Given the description of an element on the screen output the (x, y) to click on. 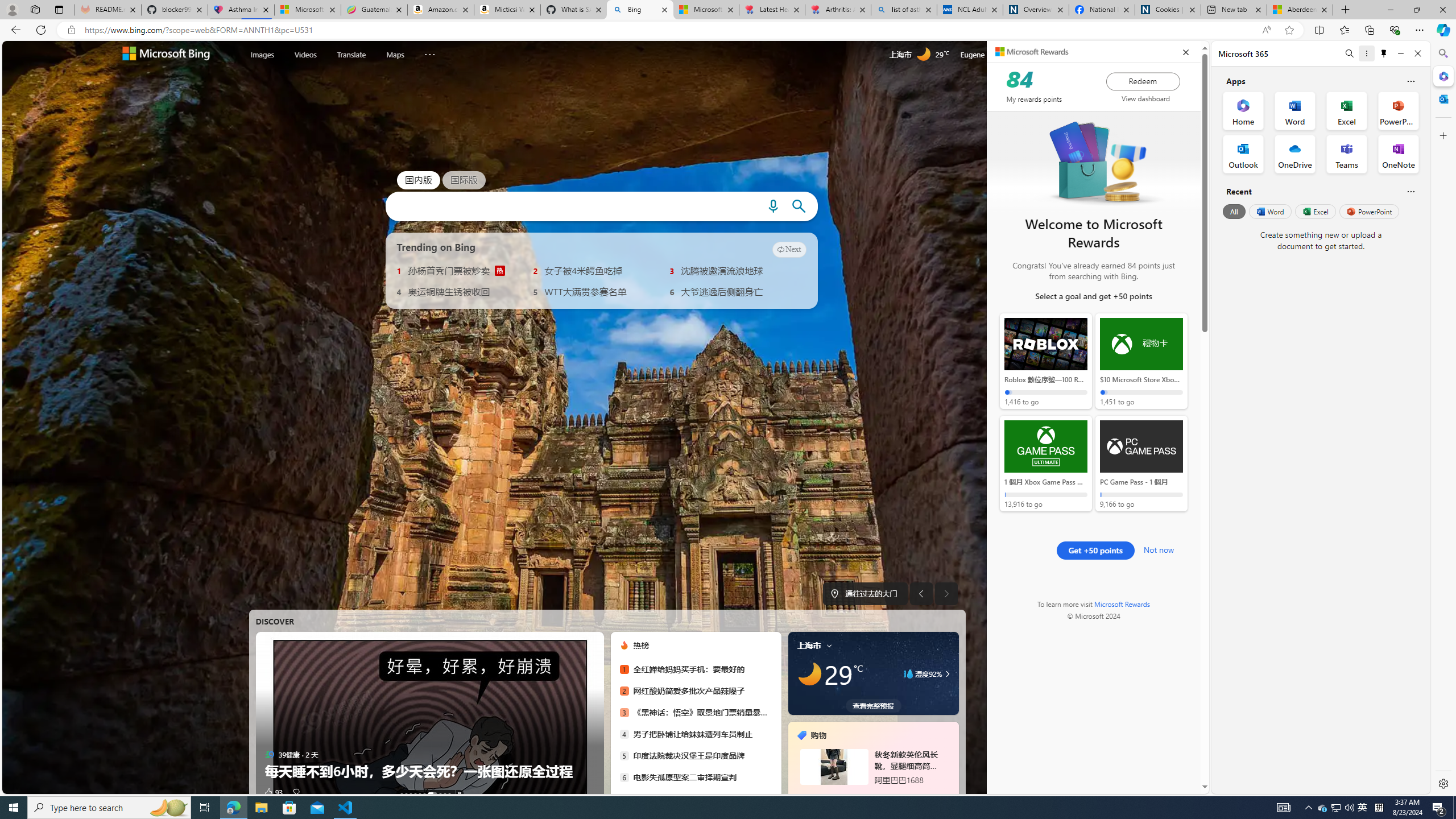
Videos (305, 54)
Maps (394, 54)
Asthma Inhalers: Names and Types (240, 9)
Word (1269, 210)
